Given the description of an element on the screen output the (x, y) to click on. 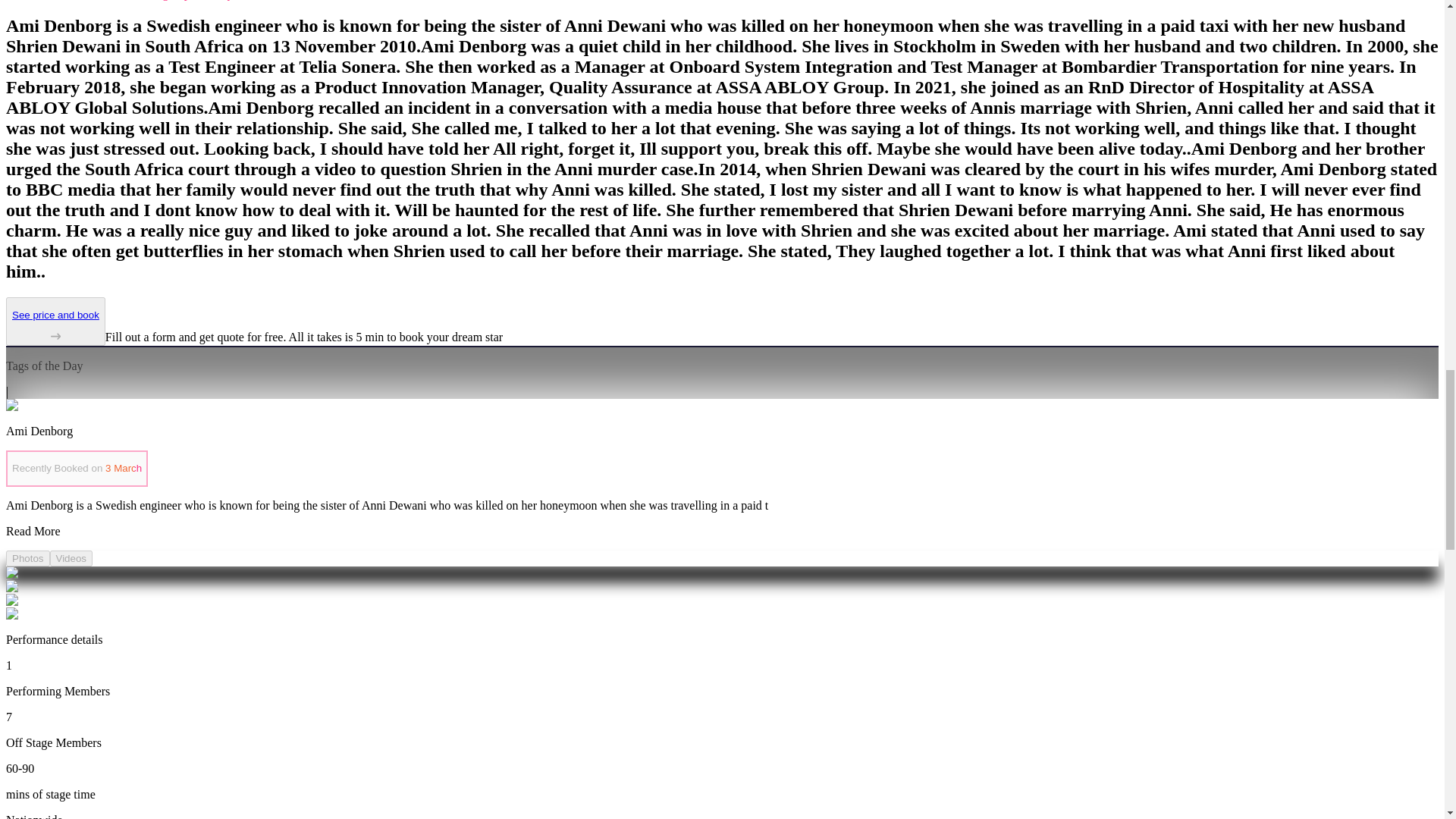
See price and book (55, 326)
See price and book (54, 321)
Videos (71, 558)
Recently Booked on 3 March (76, 468)
Photos (27, 558)
